Given the description of an element on the screen output the (x, y) to click on. 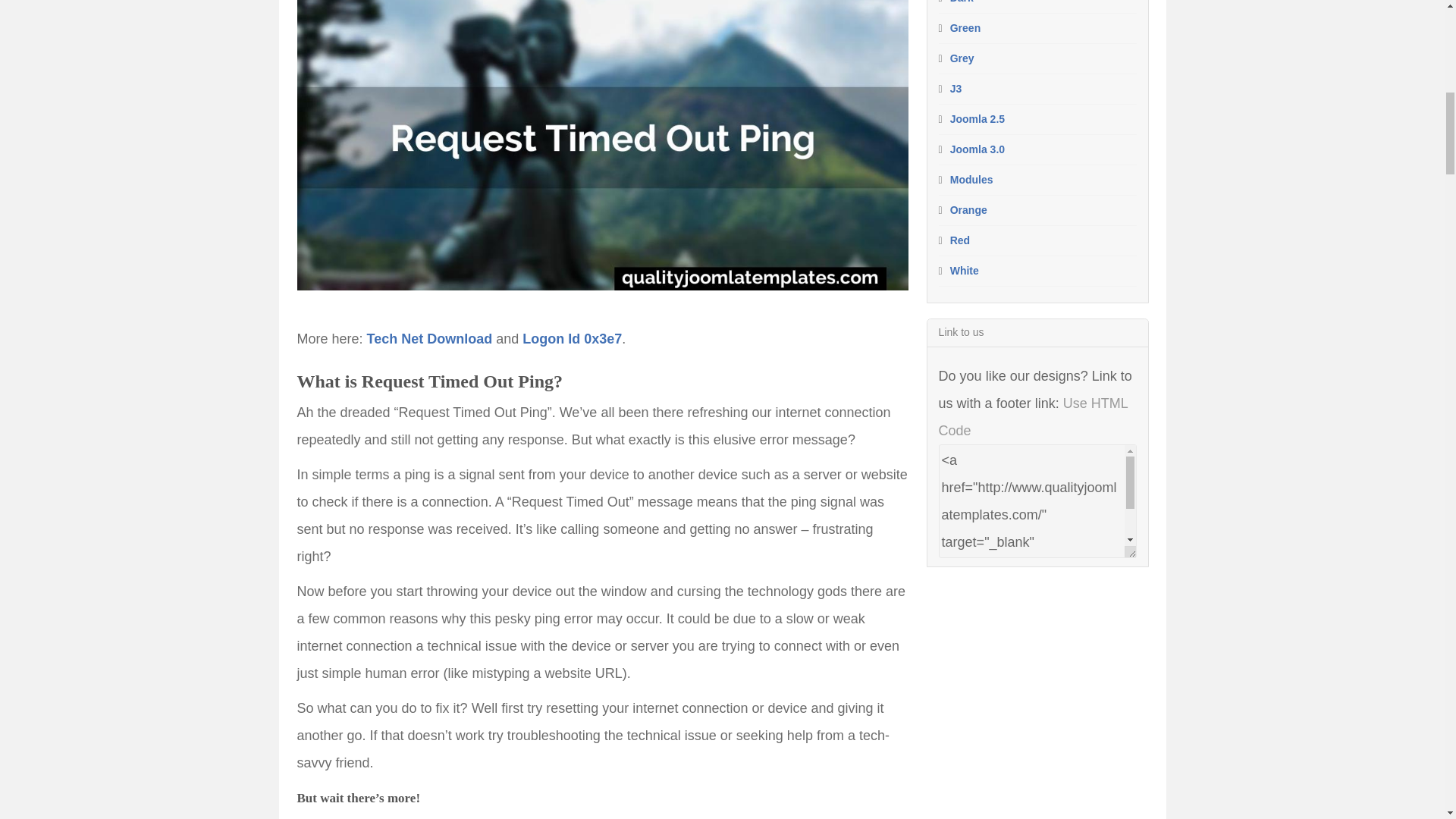
Joomla 3.0 (977, 149)
Tech Net Download (429, 338)
Logon Id 0x3e7 (571, 338)
Joomla 2.5 (977, 119)
White (964, 270)
Orange (968, 209)
Green (964, 28)
J3 (956, 88)
Dark (962, 2)
Grey (962, 58)
Modules (971, 179)
Red (959, 240)
